Given the description of an element on the screen output the (x, y) to click on. 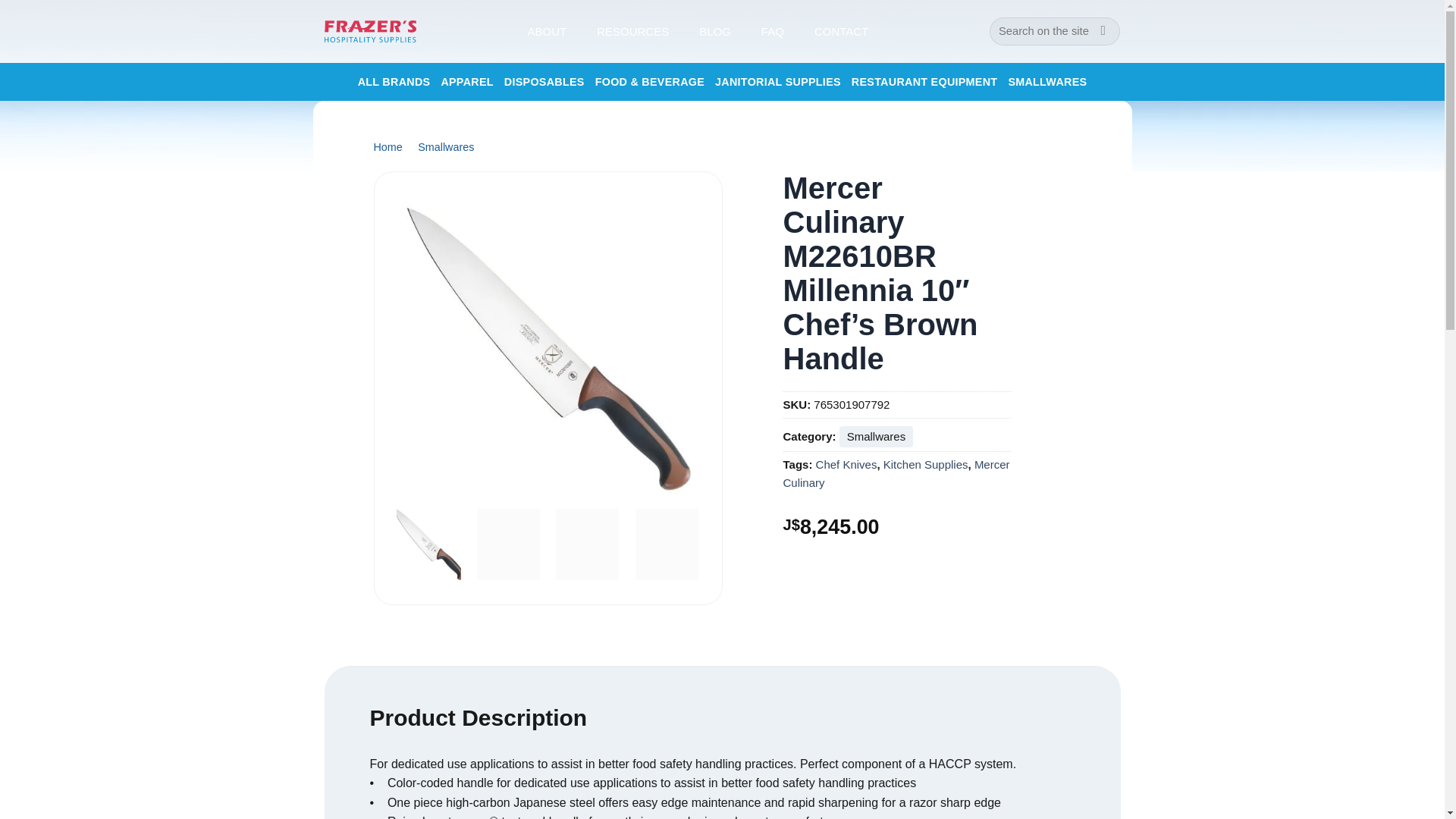
RESTAURANT EQUIPMENT (924, 81)
Home (386, 146)
Smallwares (445, 146)
SMALLWARES (1046, 81)
RESOURCES (632, 31)
ALL BRANDS (394, 81)
Search (1103, 31)
FAQ (772, 31)
JANITORIAL SUPPLIES (777, 81)
APPAREL (467, 81)
ABOUT (546, 31)
CONTACT (840, 31)
BLOG (714, 31)
DISPOSABLES (544, 81)
